Given the description of an element on the screen output the (x, y) to click on. 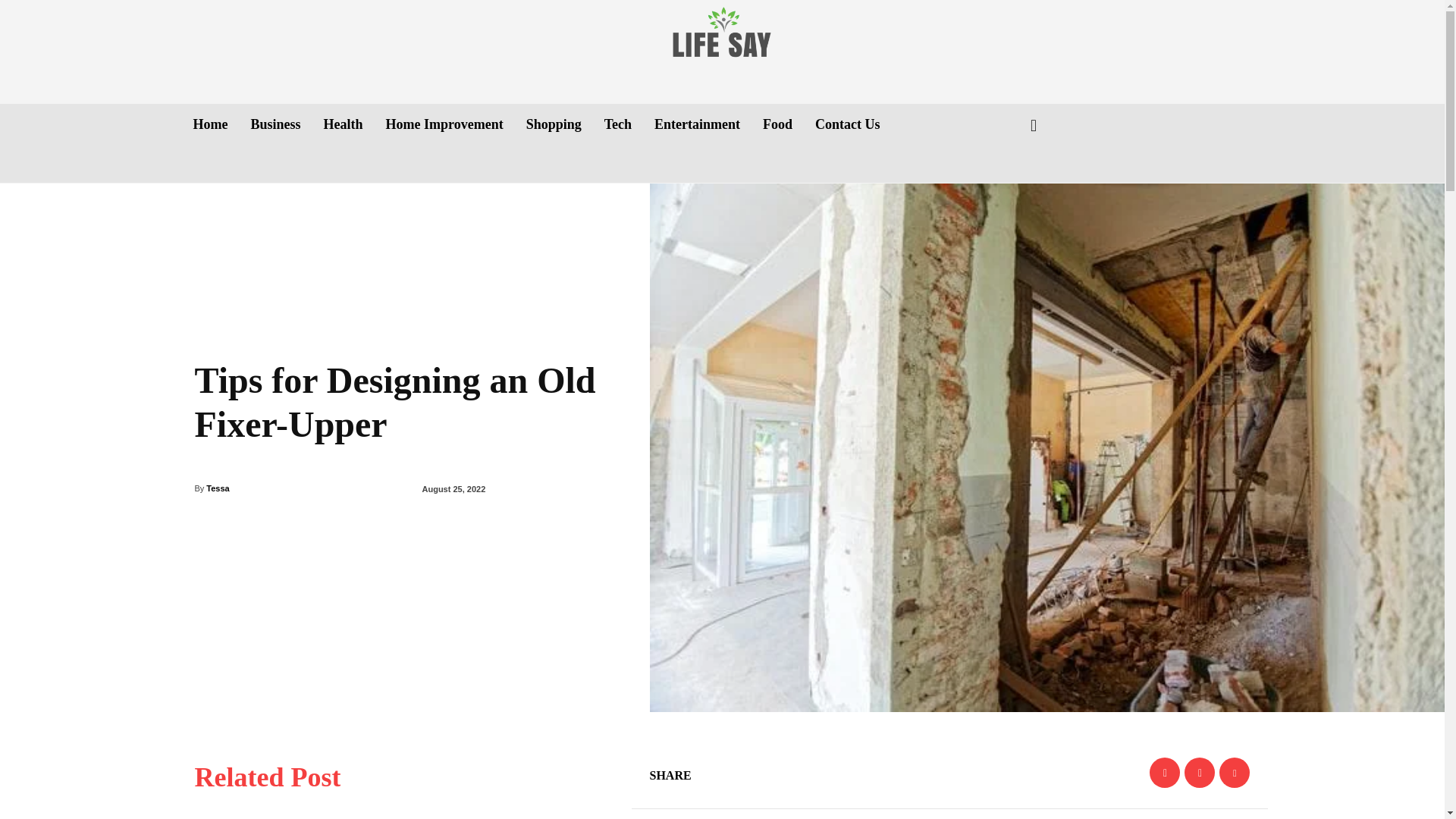
Shopping (553, 124)
Tech (617, 124)
Business (275, 124)
Tessa (217, 487)
Health (343, 124)
Contact Us (848, 124)
Home (209, 124)
Food (777, 124)
Home Improvement (444, 124)
Entertainment (697, 124)
